Given the description of an element on the screen output the (x, y) to click on. 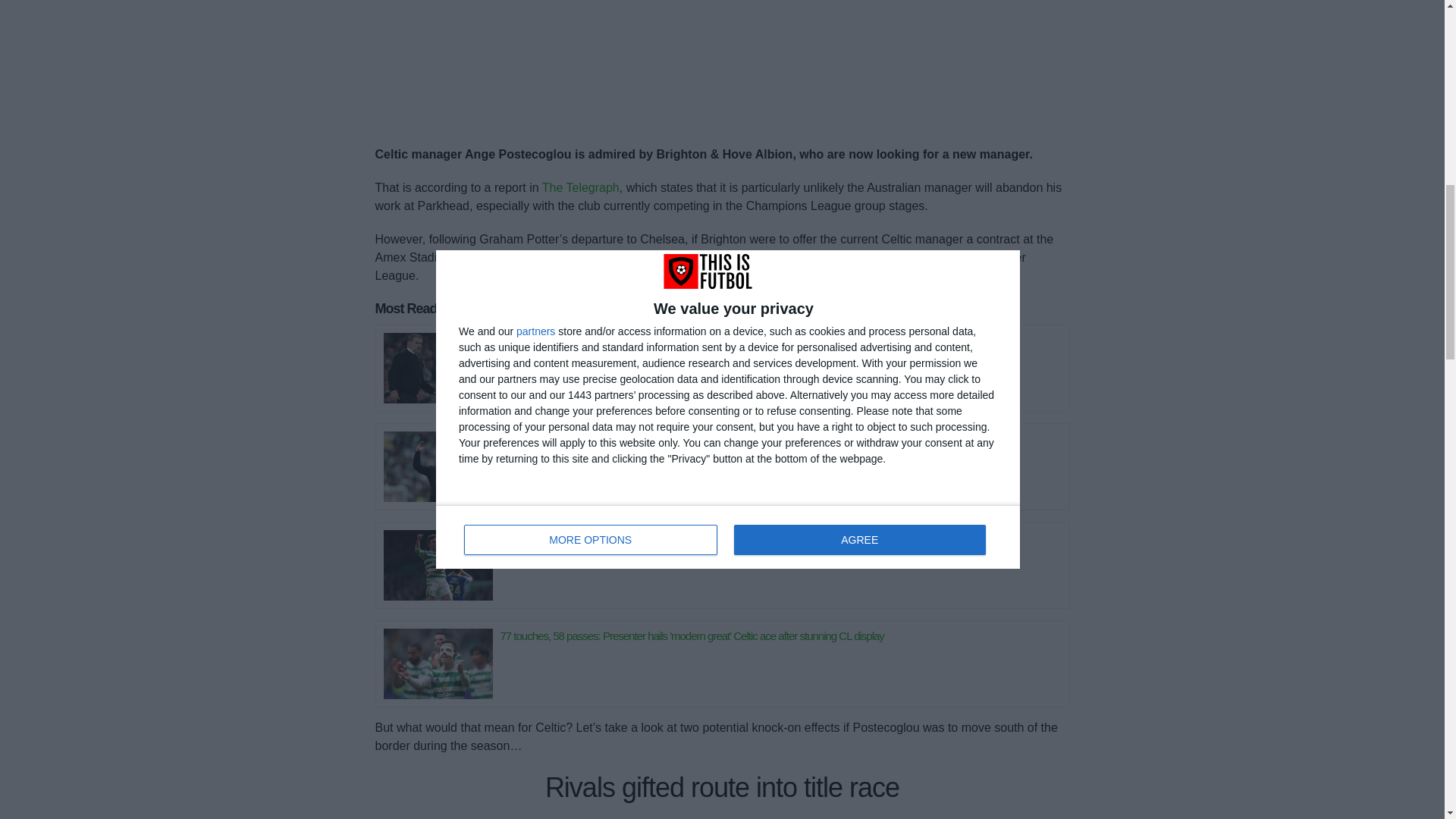
The Telegraph (580, 186)
